Given the description of an element on the screen output the (x, y) to click on. 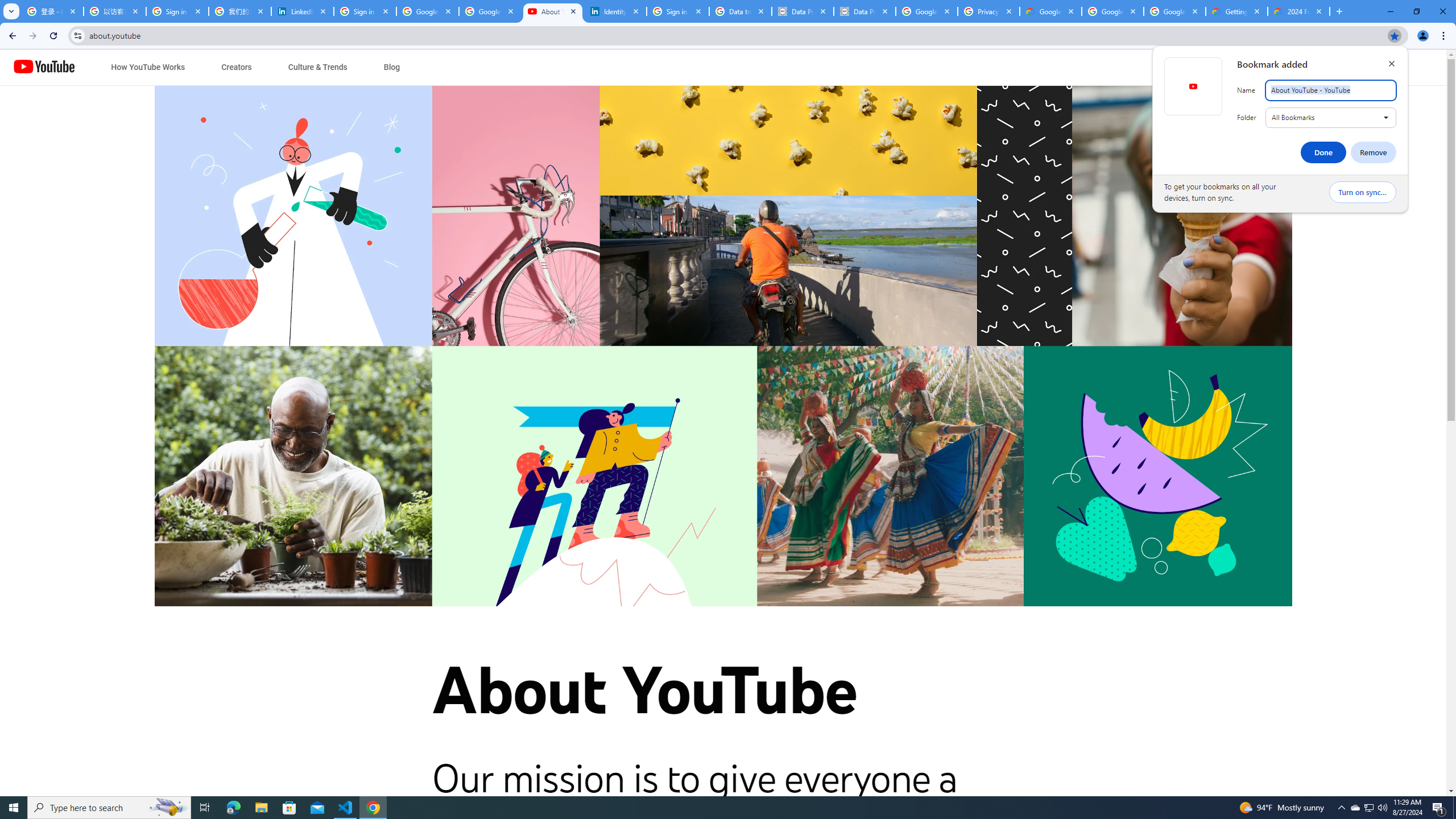
Google Workspace - Specific Terms (1174, 11)
Sign in - Google Accounts (678, 11)
Remove (1368, 807)
Home page link (1373, 151)
Start (1355, 807)
Sign in - Google Accounts (44, 67)
